Given the description of an element on the screen output the (x, y) to click on. 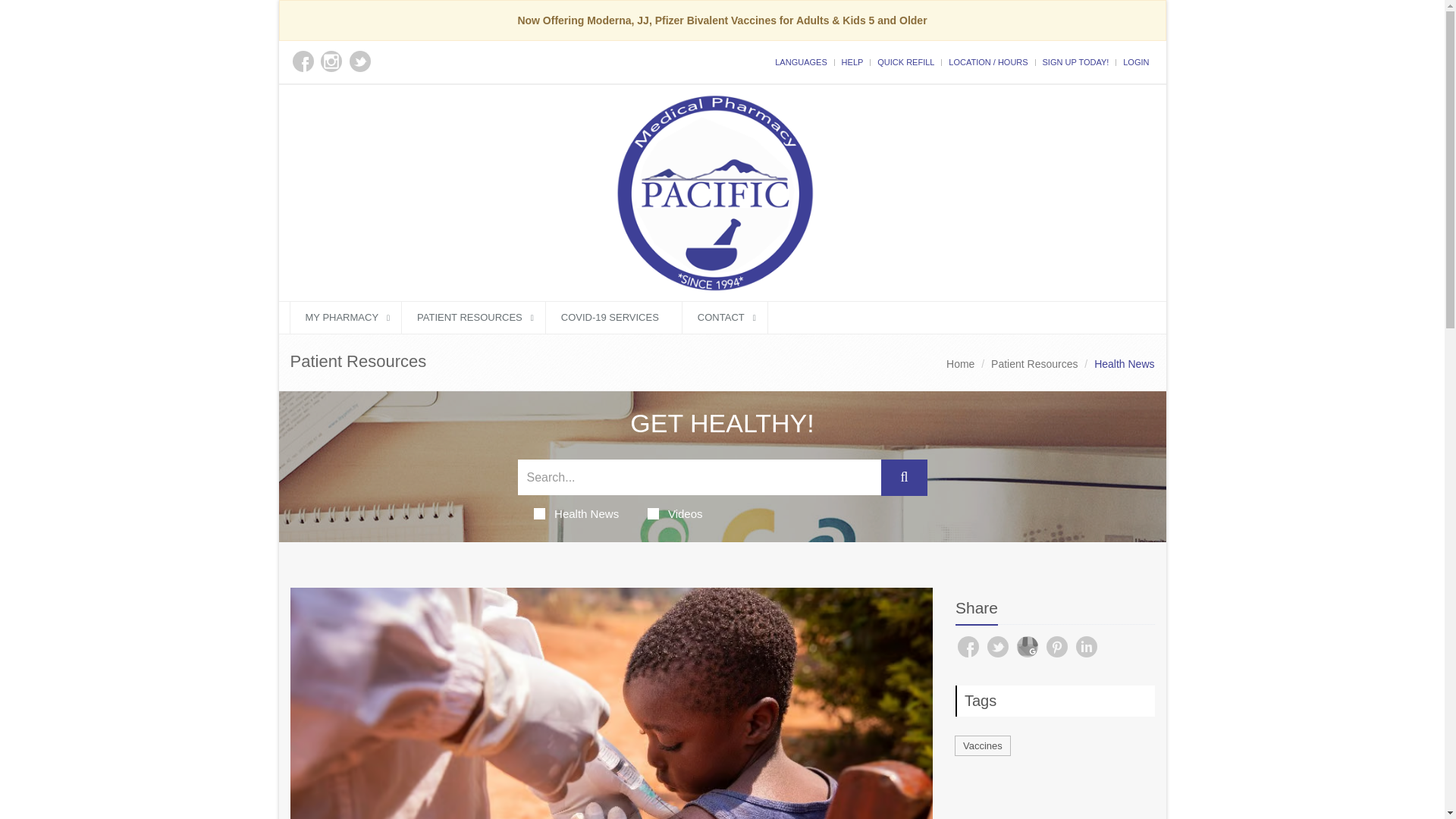
LANGUAGES (800, 61)
COVID-19 SERVICES (613, 317)
CONTACT (724, 317)
HELP (852, 61)
MY PHARMACY (345, 317)
PATIENT RESOURCES (472, 317)
